Given the description of an element on the screen output the (x, y) to click on. 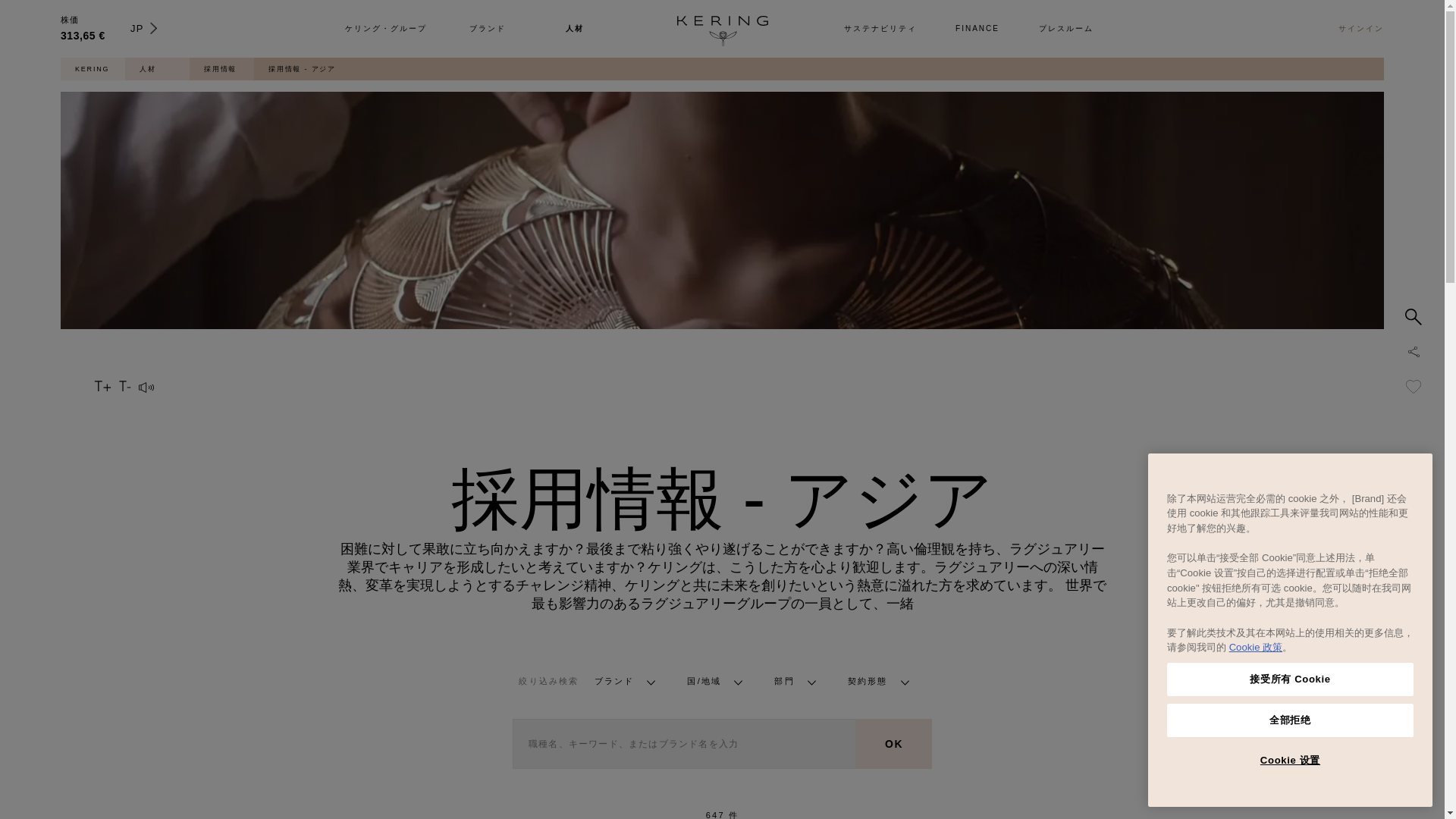
JP (145, 29)
OK (893, 744)
Finance (978, 28)
Kering (92, 68)
KERING (92, 68)
FINANCE (978, 28)
kering (722, 28)
